Given the description of an element on the screen output the (x, y) to click on. 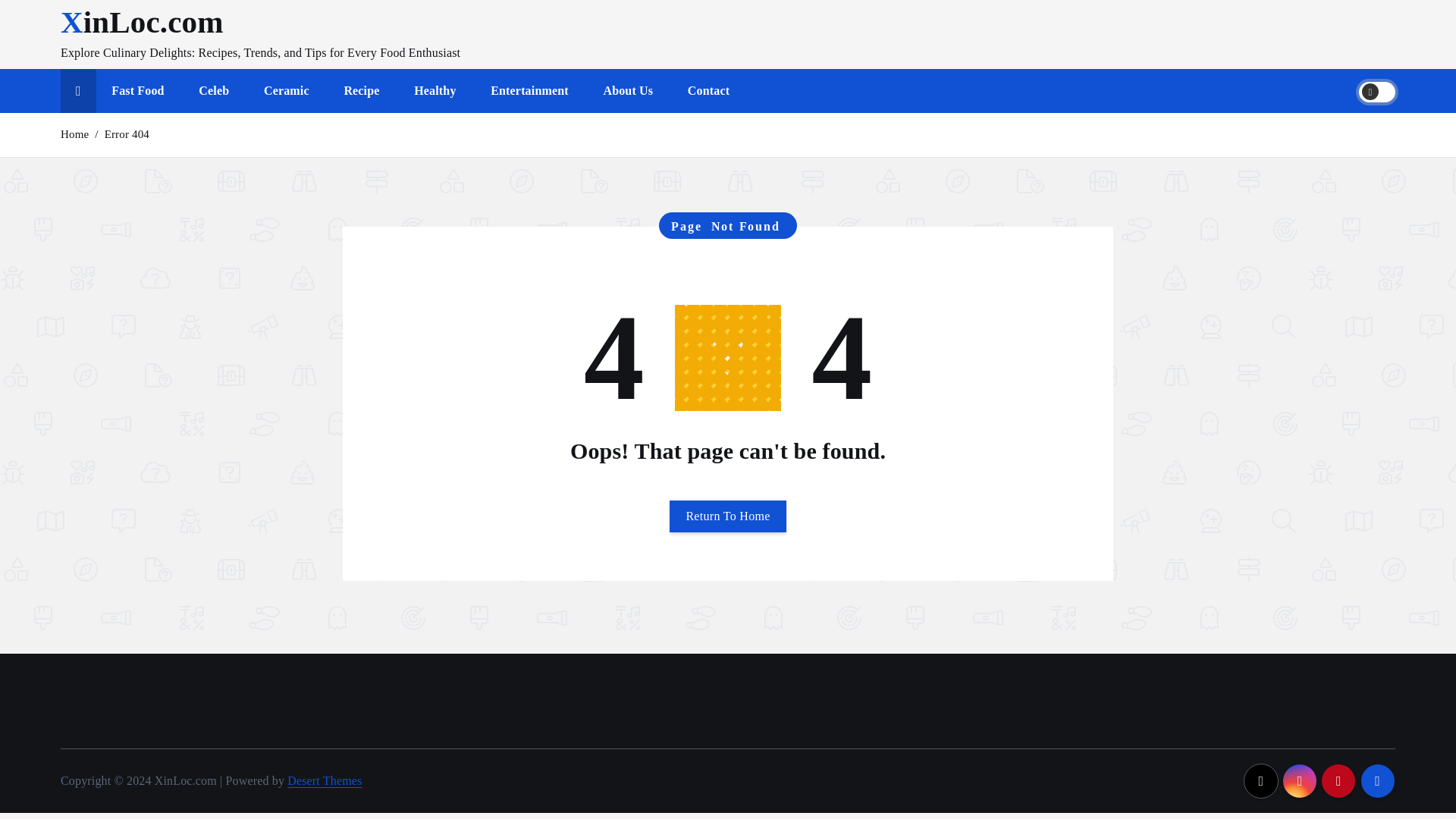
About Us (628, 90)
Contact (708, 90)
Contact (708, 90)
About Us (628, 90)
Fast Food (137, 90)
Entertainment (529, 90)
Celeb (213, 90)
Celeb (213, 90)
Ceramic (286, 90)
Recipe (361, 90)
Healthy (434, 90)
XinLoc.com (142, 21)
Fast Food (137, 90)
Ceramic (286, 90)
Healthy (434, 90)
